Given the description of an element on the screen output the (x, y) to click on. 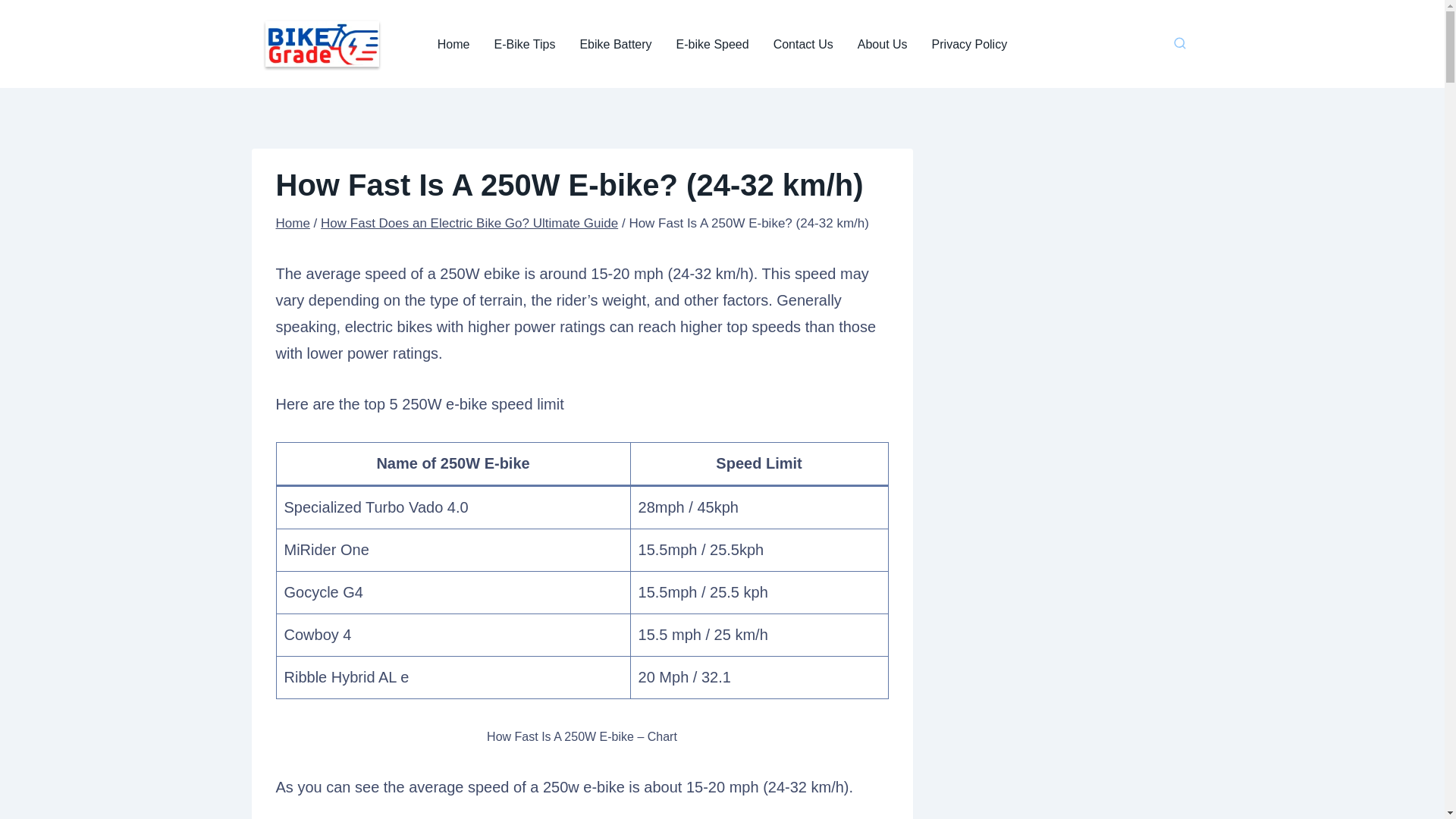
Contact Us (803, 43)
How Fast Does an Electric Bike Go? Ultimate Guide (468, 223)
Home (293, 223)
E-Bike Tips (524, 43)
Home (453, 43)
Ebike Battery (615, 43)
About Us (882, 43)
Privacy Policy (970, 43)
E-bike Speed (712, 43)
